Given the description of an element on the screen output the (x, y) to click on. 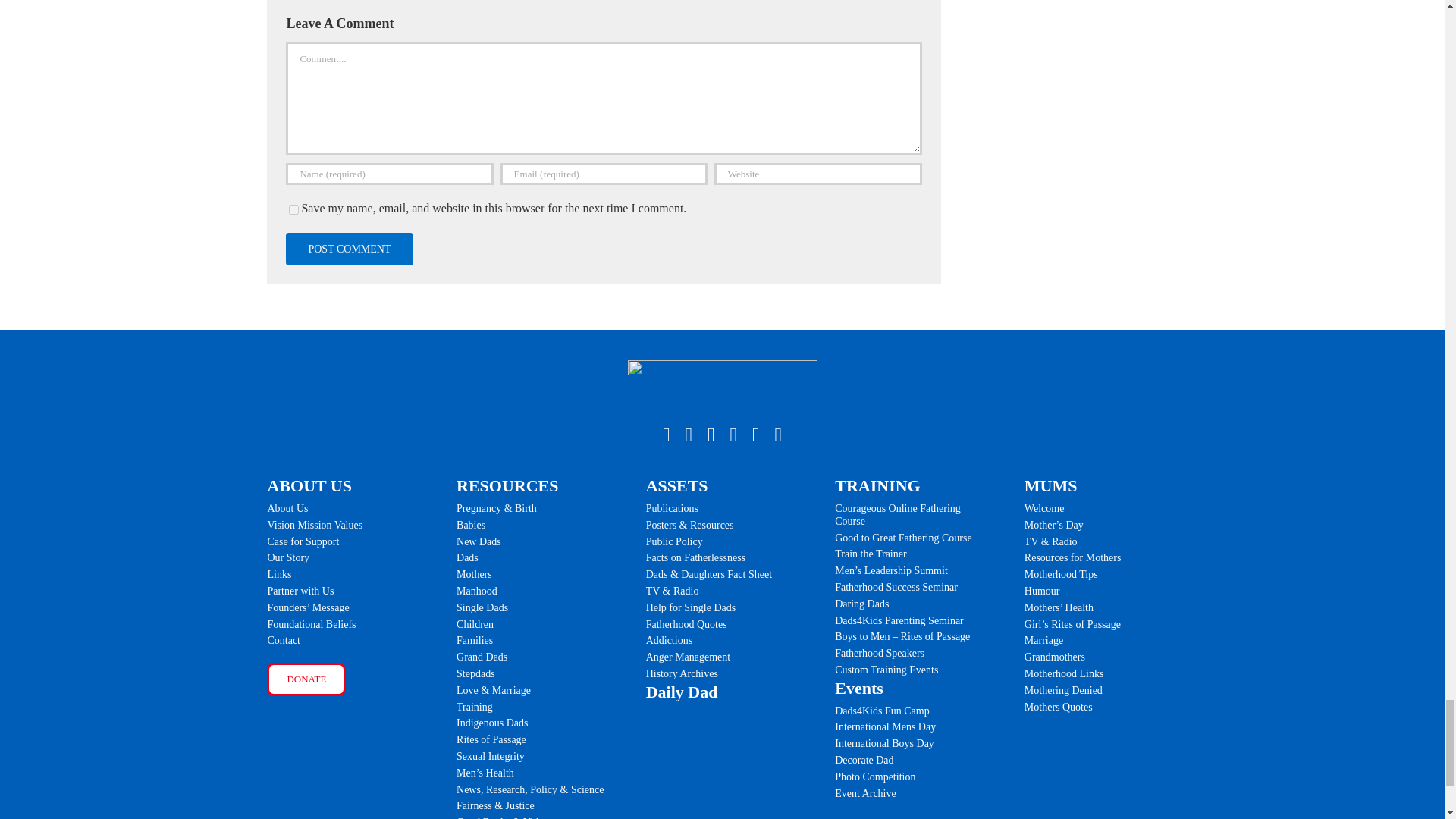
Post Comment (348, 248)
yes (293, 209)
d4k-logo-clear-42x-WHITE (721, 385)
